Given the description of an element on the screen output the (x, y) to click on. 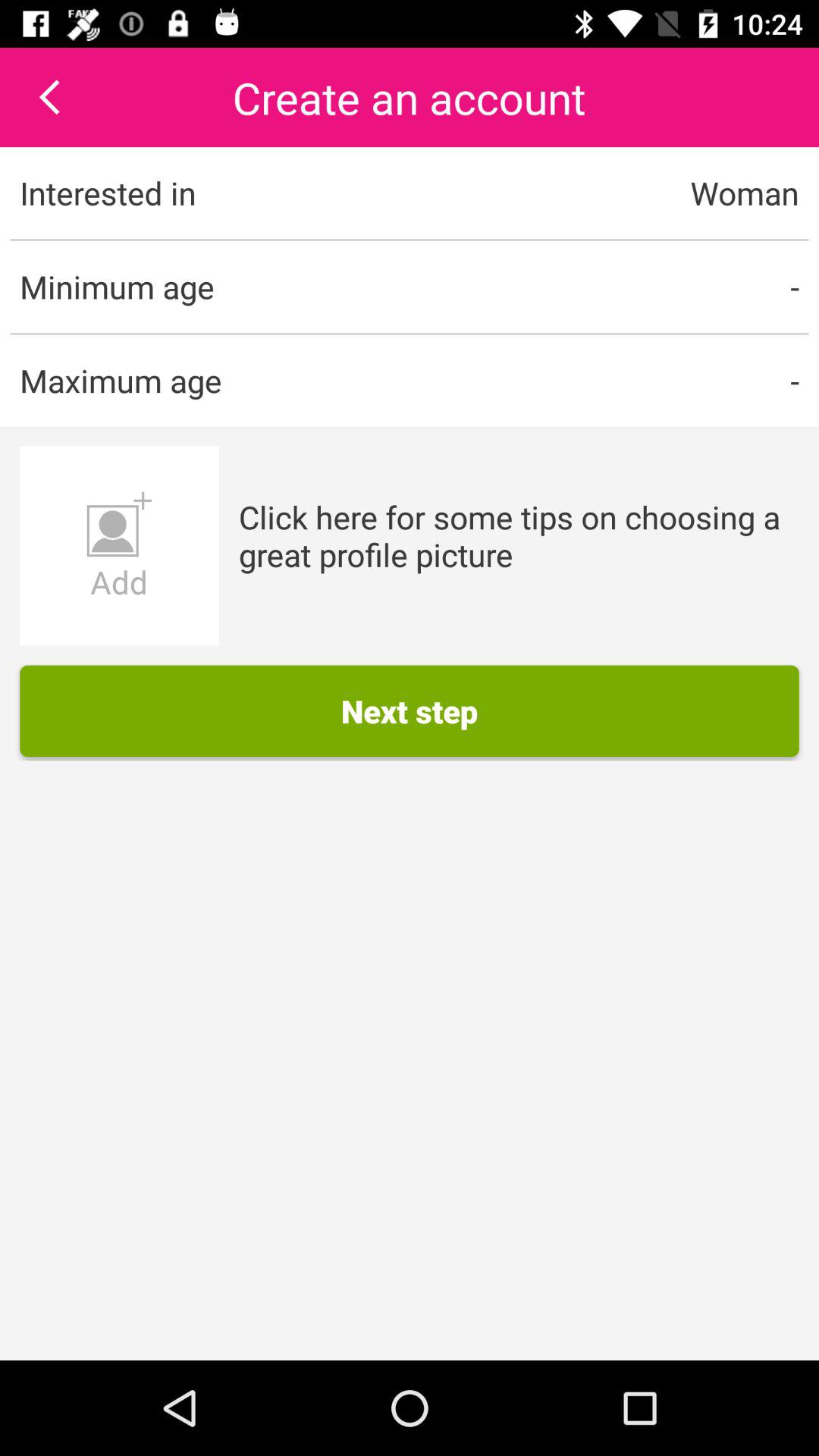
open the next step icon (409, 711)
